Given the description of an element on the screen output the (x, y) to click on. 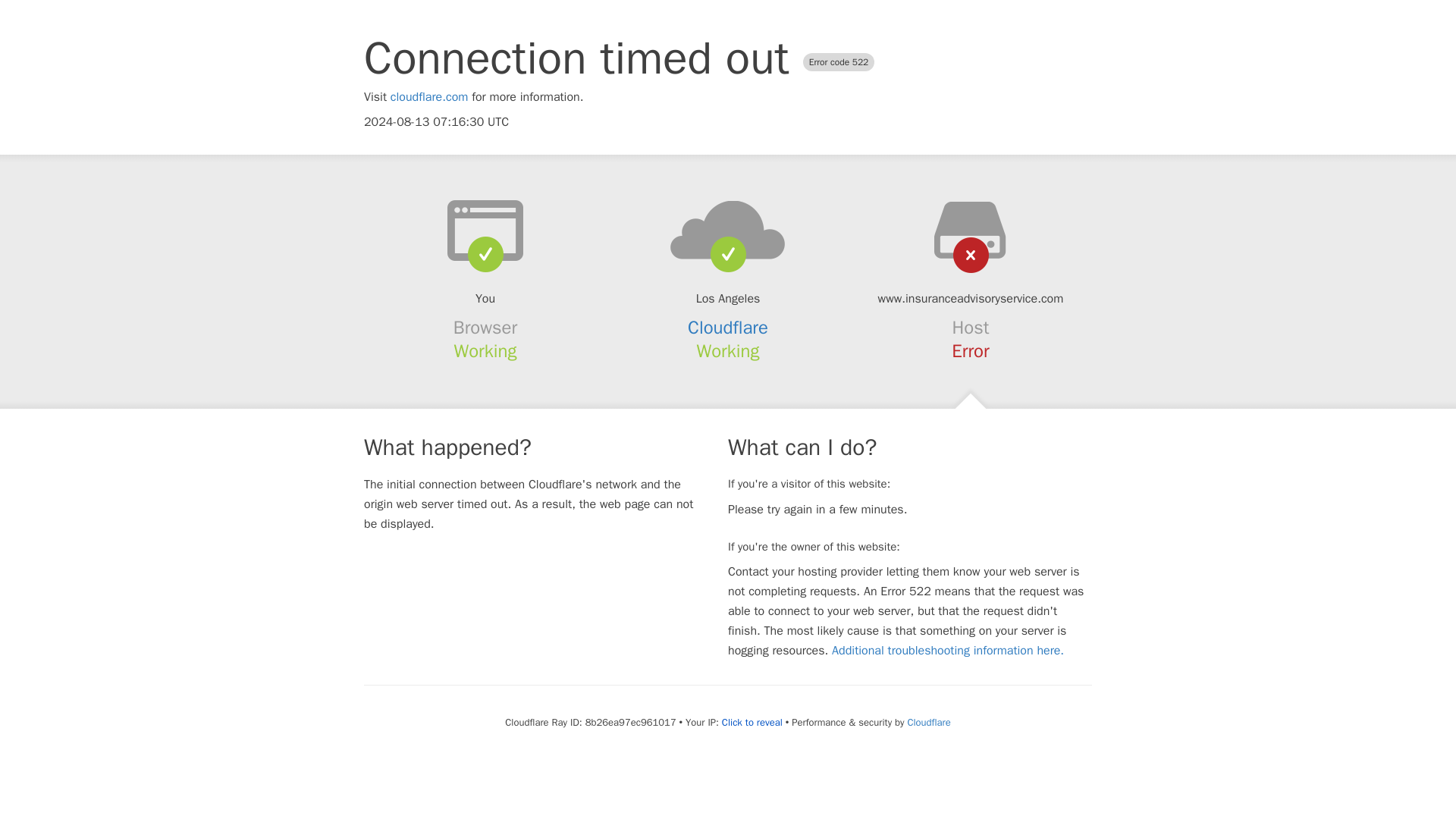
Additional troubleshooting information here. (947, 650)
Cloudflare (727, 327)
Cloudflare (928, 721)
cloudflare.com (429, 96)
Click to reveal (752, 722)
